Given the description of an element on the screen output the (x, y) to click on. 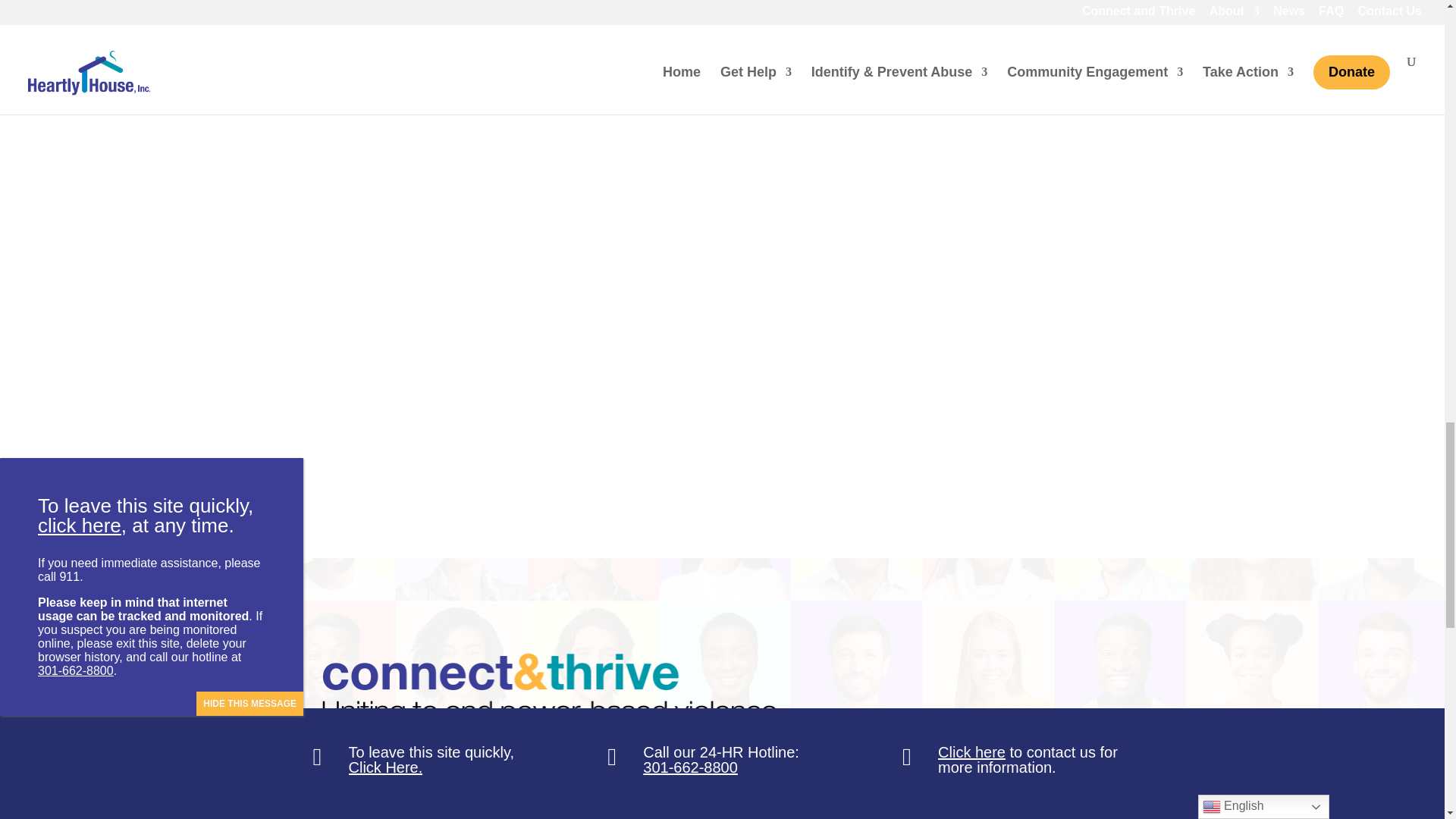
HH-Case-for-Support---Concept-Presentation (549, 688)
